Given the description of an element on the screen output the (x, y) to click on. 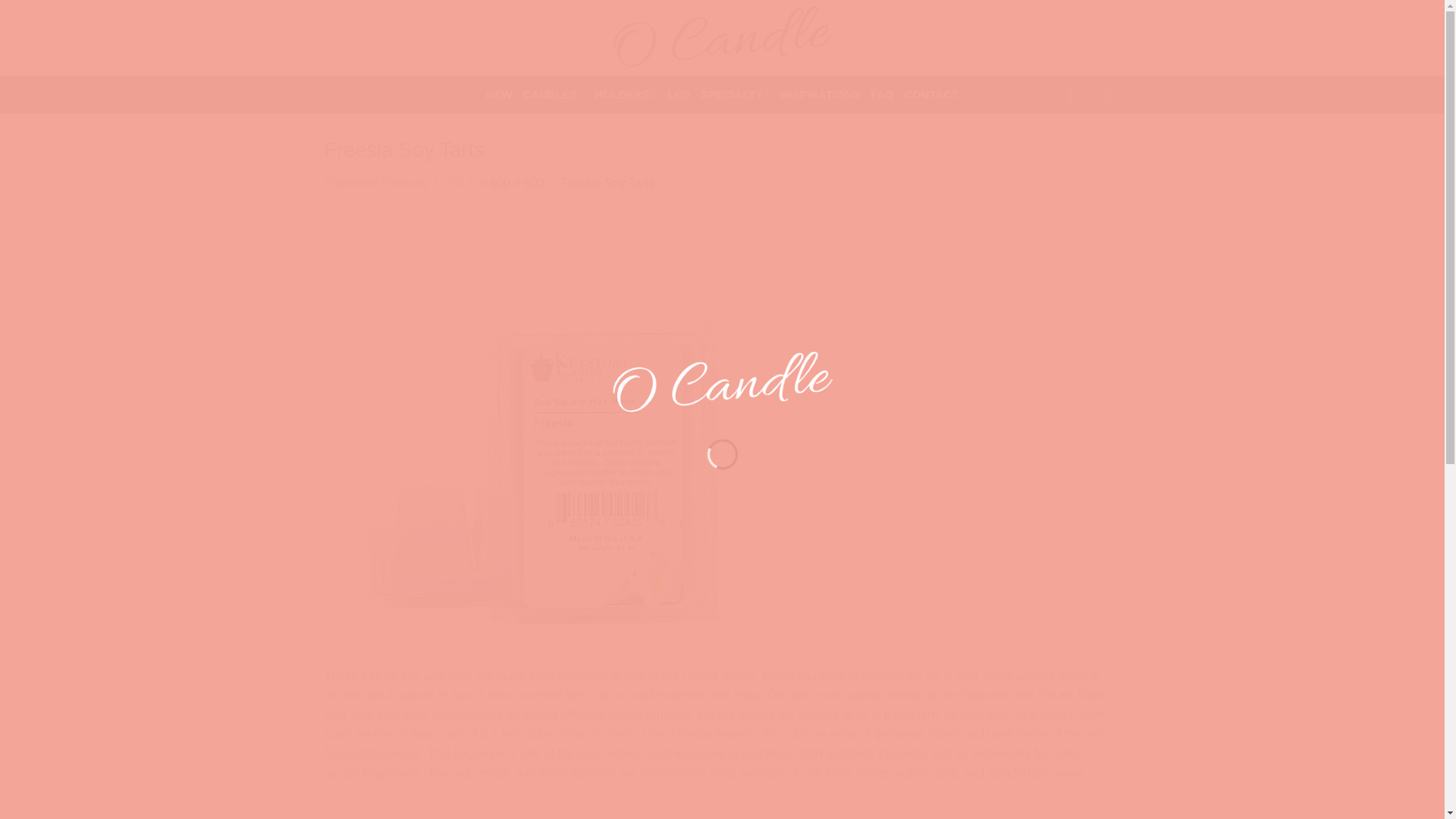
Return to Freesia Soy Tarts (606, 182)
Freesia Soy Tarts (606, 182)
CONTACT (931, 94)
Link to full-size image (516, 182)
HOLDERS (625, 94)
INSPIRATIONS (820, 94)
SPECIALTY (735, 94)
CANDLES (553, 94)
Freesia Soy Tarts (551, 437)
